Given the description of an element on the screen output the (x, y) to click on. 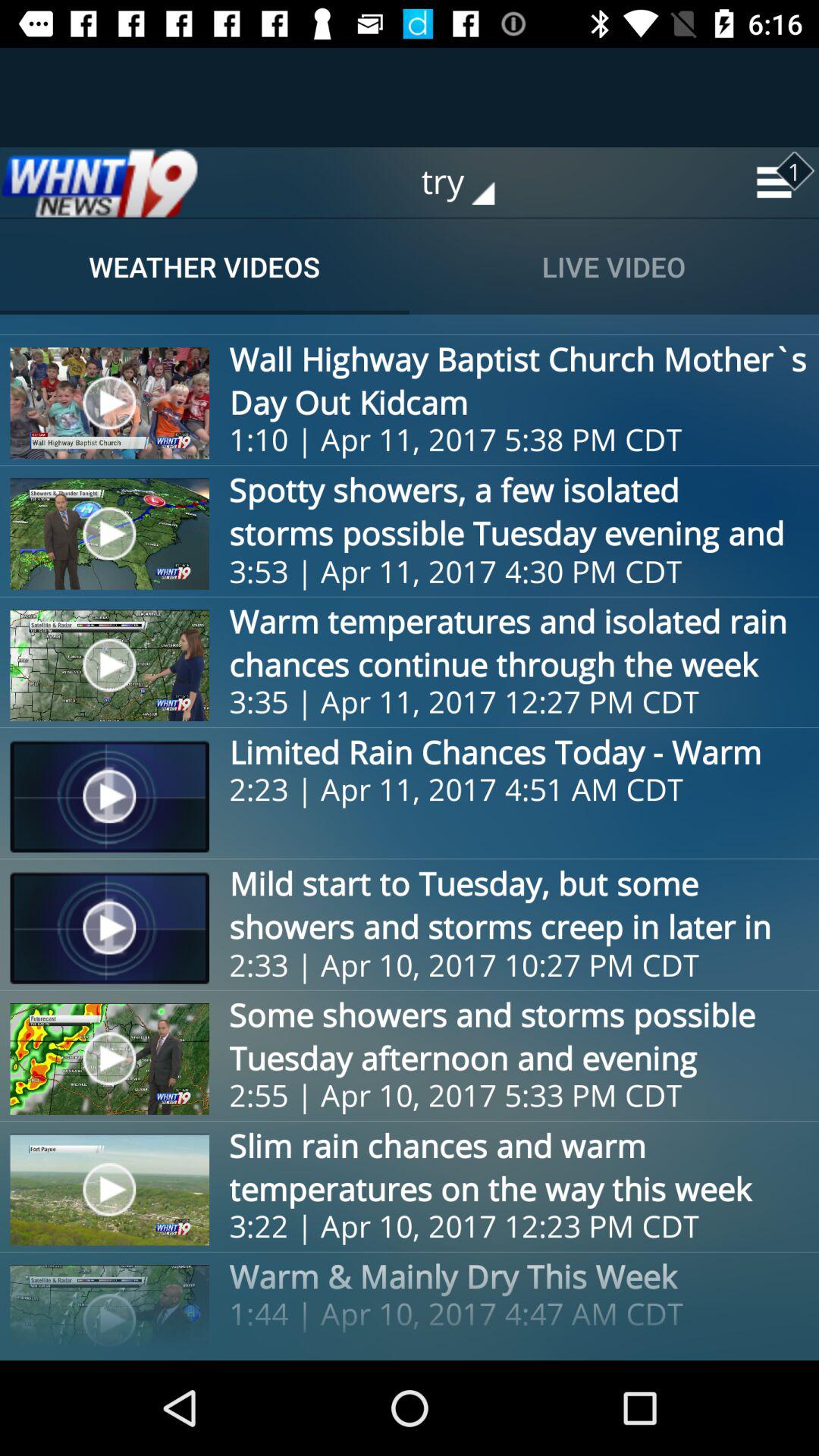
select the try item (468, 182)
